Given the description of an element on the screen output the (x, y) to click on. 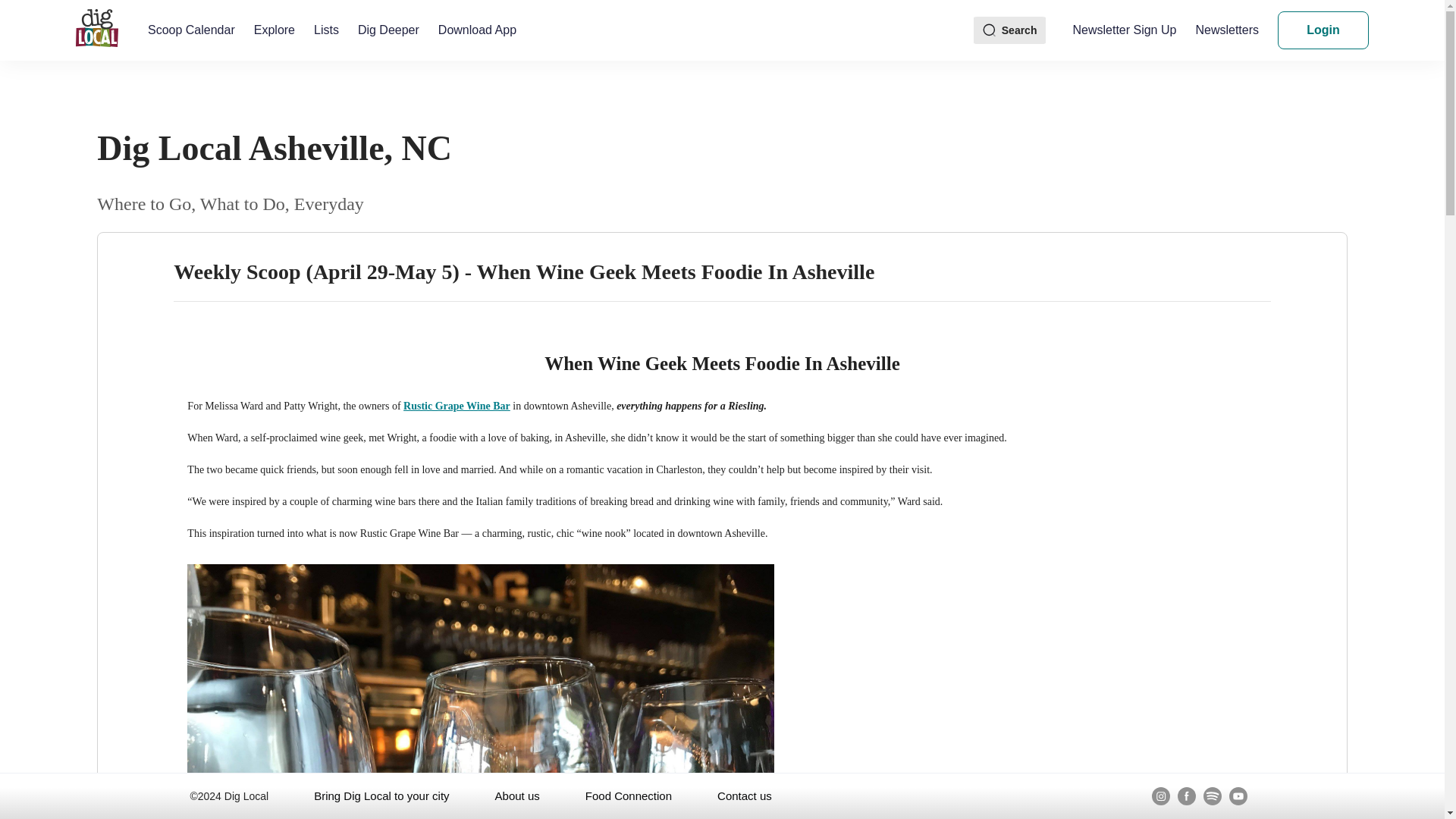
Newsletter Sign Up (1123, 29)
Rustic Grape Wine Bar (457, 405)
Newsletters (1227, 29)
Explore (274, 29)
Lists (326, 29)
Download App (477, 29)
Scoop Calendar (191, 29)
Login (1323, 30)
Dig Deeper (388, 29)
